Given the description of an element on the screen output the (x, y) to click on. 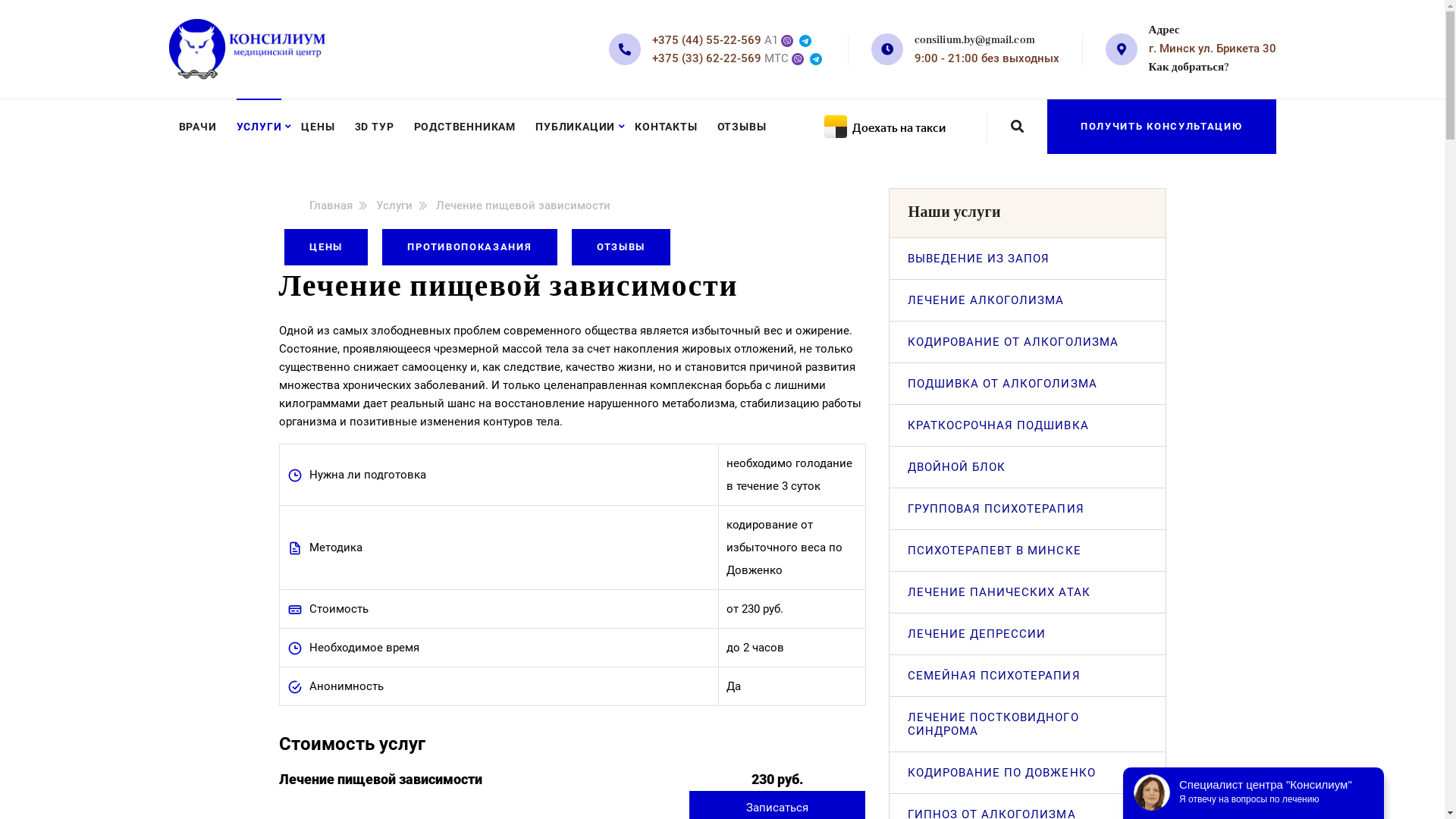
+375 (44) 55-22-569 Element type: text (706, 40)
+375 (33) 62-22-569 Element type: text (706, 58)
consilium.by@gmail.com Element type: text (974, 40)
